Given the description of an element on the screen output the (x, y) to click on. 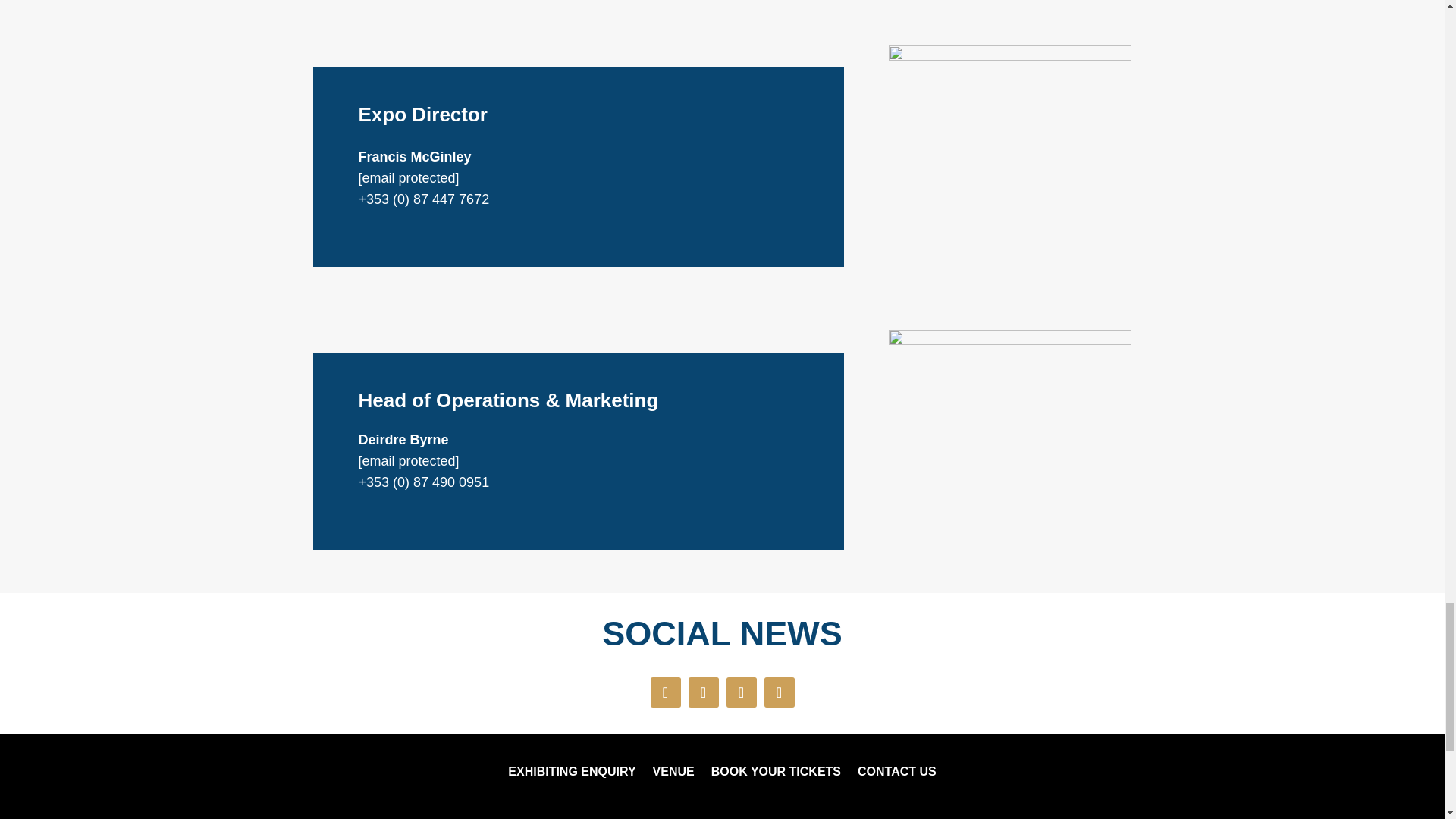
Follow on X (703, 692)
CONTACT US (896, 774)
VENUE (673, 774)
Screenshot 2023-11-23 123314 (1009, 451)
Follow on Instagram (741, 692)
Follow on Facebook (665, 692)
BOOK YOUR TICKETS (776, 774)
Follow on LinkedIn (779, 692)
EXHIBITING ENQUIRY (571, 774)
